Given the description of an element on the screen output the (x, y) to click on. 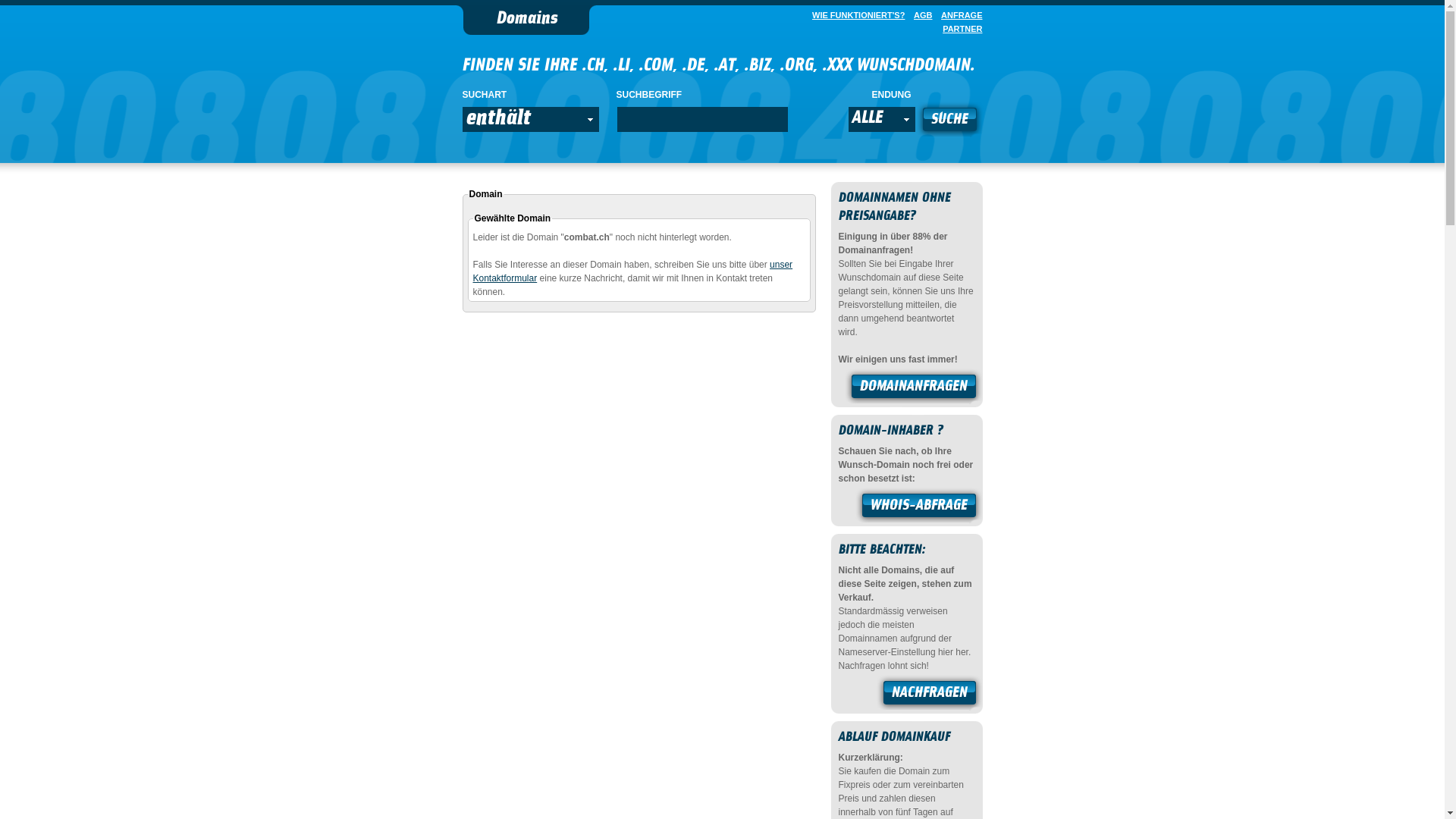
WHOIS-ABFRAGE Element type: text (918, 507)
DOMAINANFRAGEN Element type: text (913, 387)
AGB Element type: text (919, 14)
PARTNER Element type: text (959, 28)
ANFRAGE Element type: text (958, 14)
WIE FUNKTIONIERT'S? Element type: text (855, 14)
Domains Element type: text (526, 19)
NACHFRAGEN Element type: text (929, 694)
SUCHE Element type: text (949, 121)
unser Kontaktformular Element type: text (633, 271)
